Given the description of an element on the screen output the (x, y) to click on. 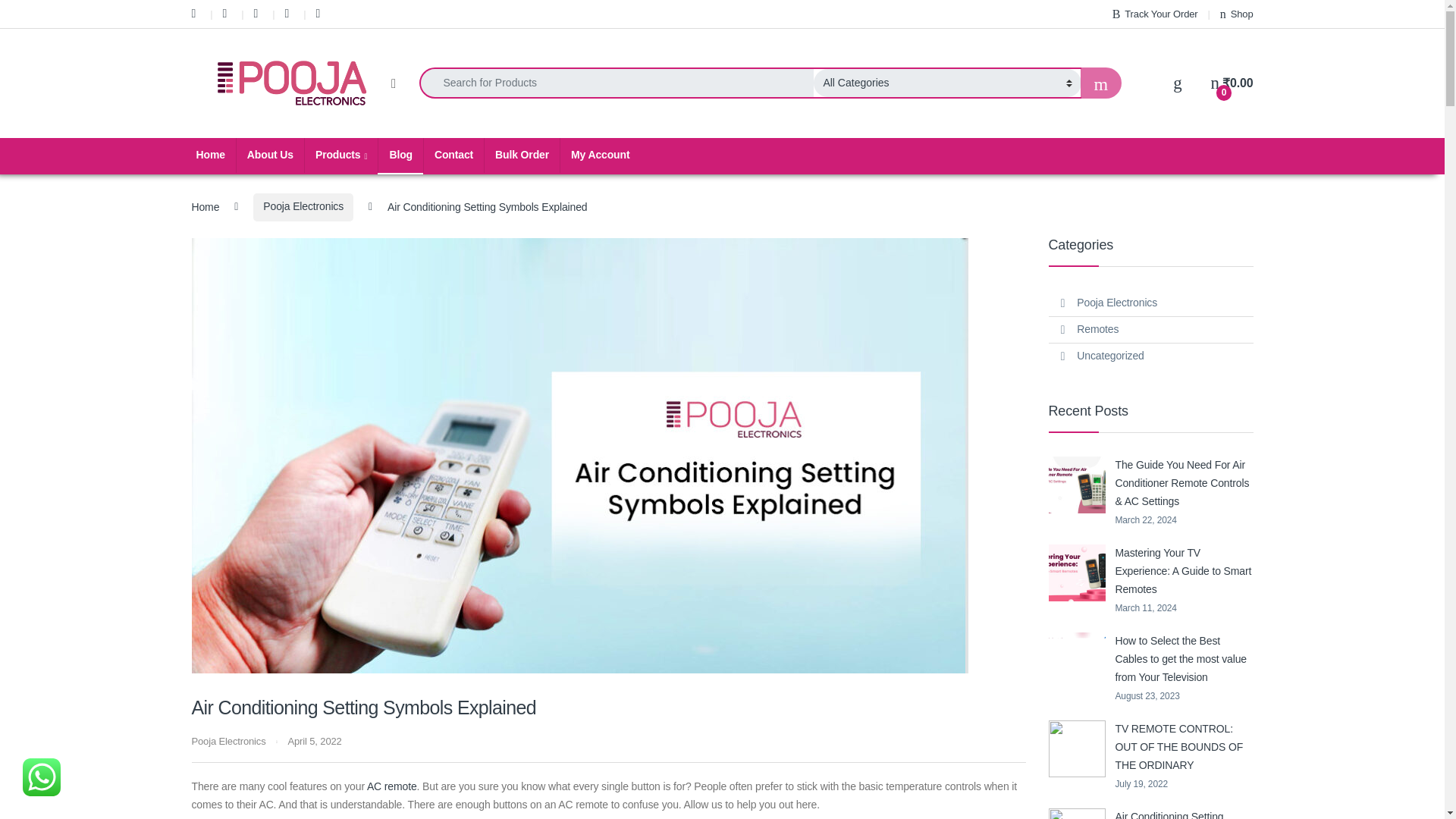
Track Your Order (1155, 13)
Home (209, 155)
My Account (599, 155)
Shop (1236, 13)
About Us (269, 155)
Contact (453, 155)
Bulk Order (521, 155)
Products (340, 155)
Blog (400, 155)
Track Your Order (1155, 13)
